Given the description of an element on the screen output the (x, y) to click on. 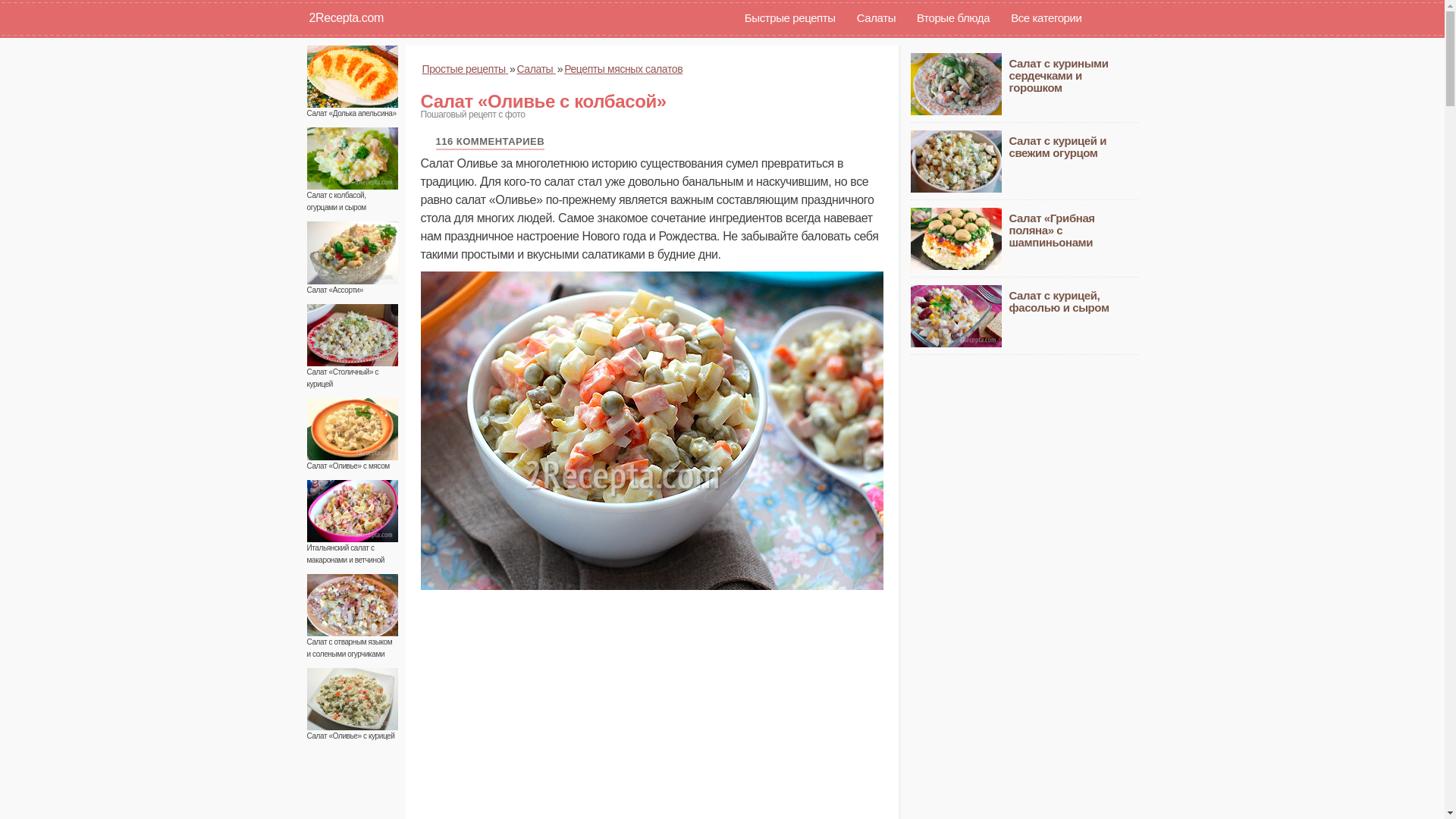
2Recepta.com Element type: text (340, 18)
